Given the description of an element on the screen output the (x, y) to click on. 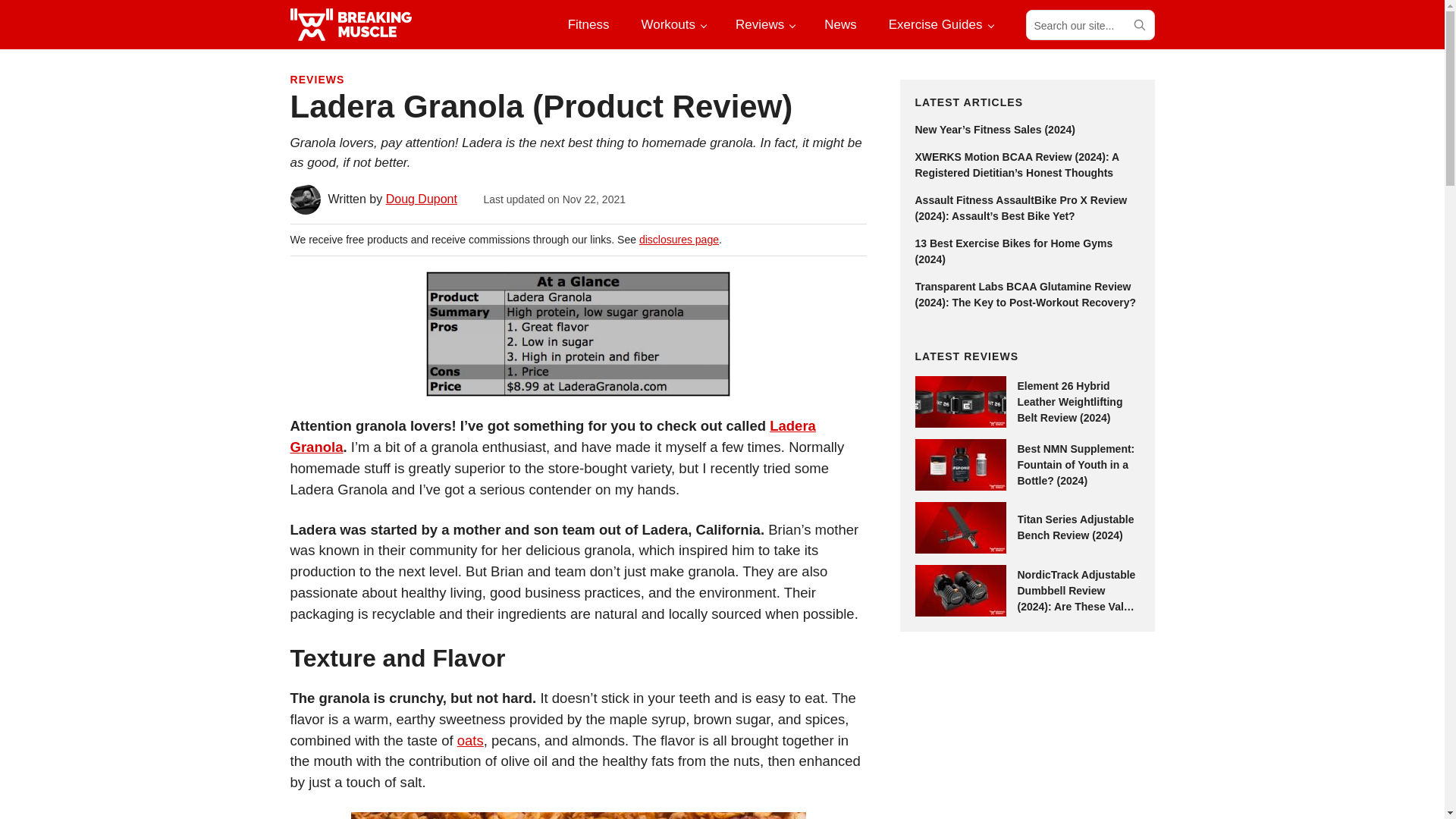
Workouts (672, 24)
Submit search (1138, 24)
Reviews (764, 24)
Submit search (1138, 24)
Fitness (588, 24)
